Given the description of an element on the screen output the (x, y) to click on. 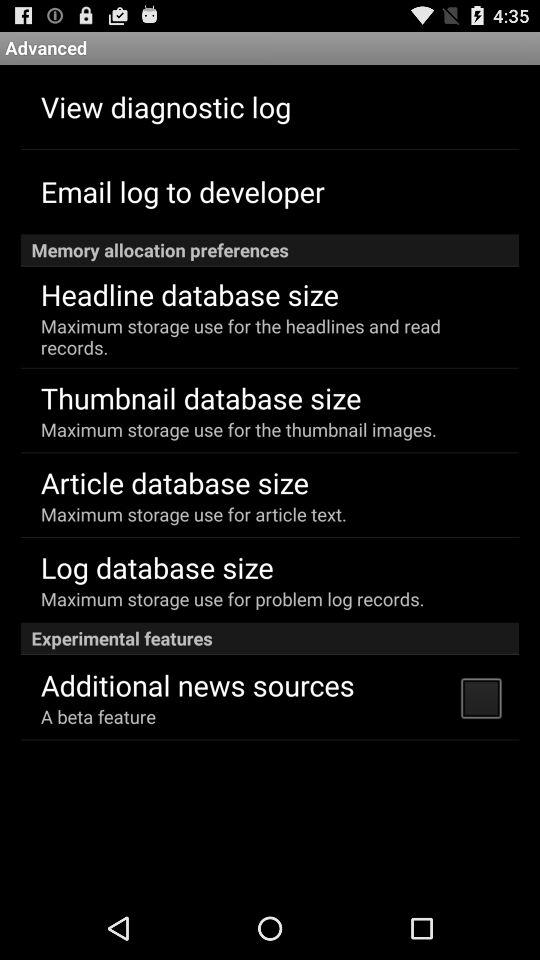
press icon to the right of additional news sources item (480, 697)
